Given the description of an element on the screen output the (x, y) to click on. 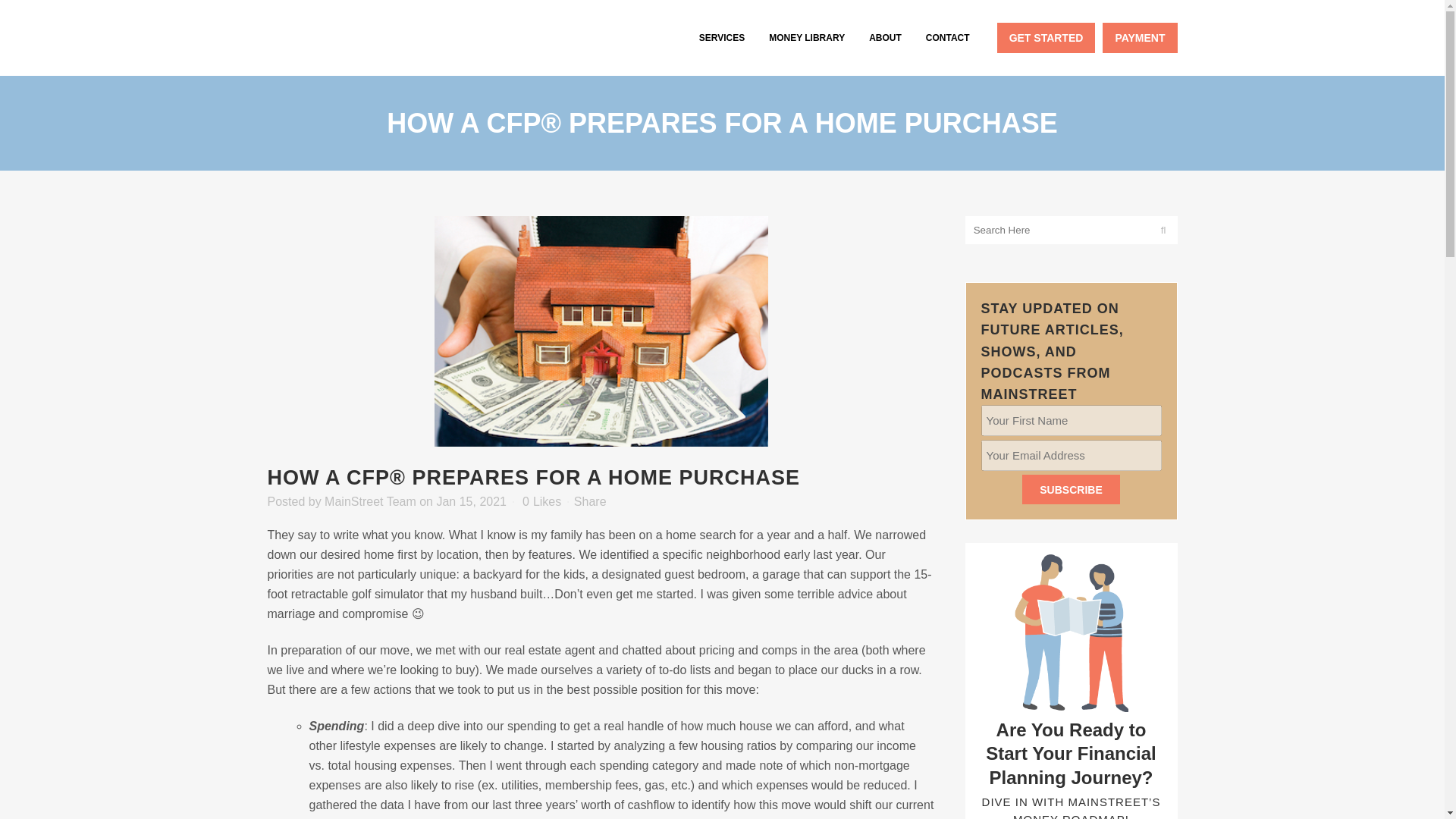
SERVICES (722, 38)
Like this (541, 501)
PAYMENT (1139, 37)
MONEY LIBRARY (807, 38)
CONTACT (947, 38)
GET STARTED (1046, 37)
Subscribe (1070, 489)
